Given the description of an element on the screen output the (x, y) to click on. 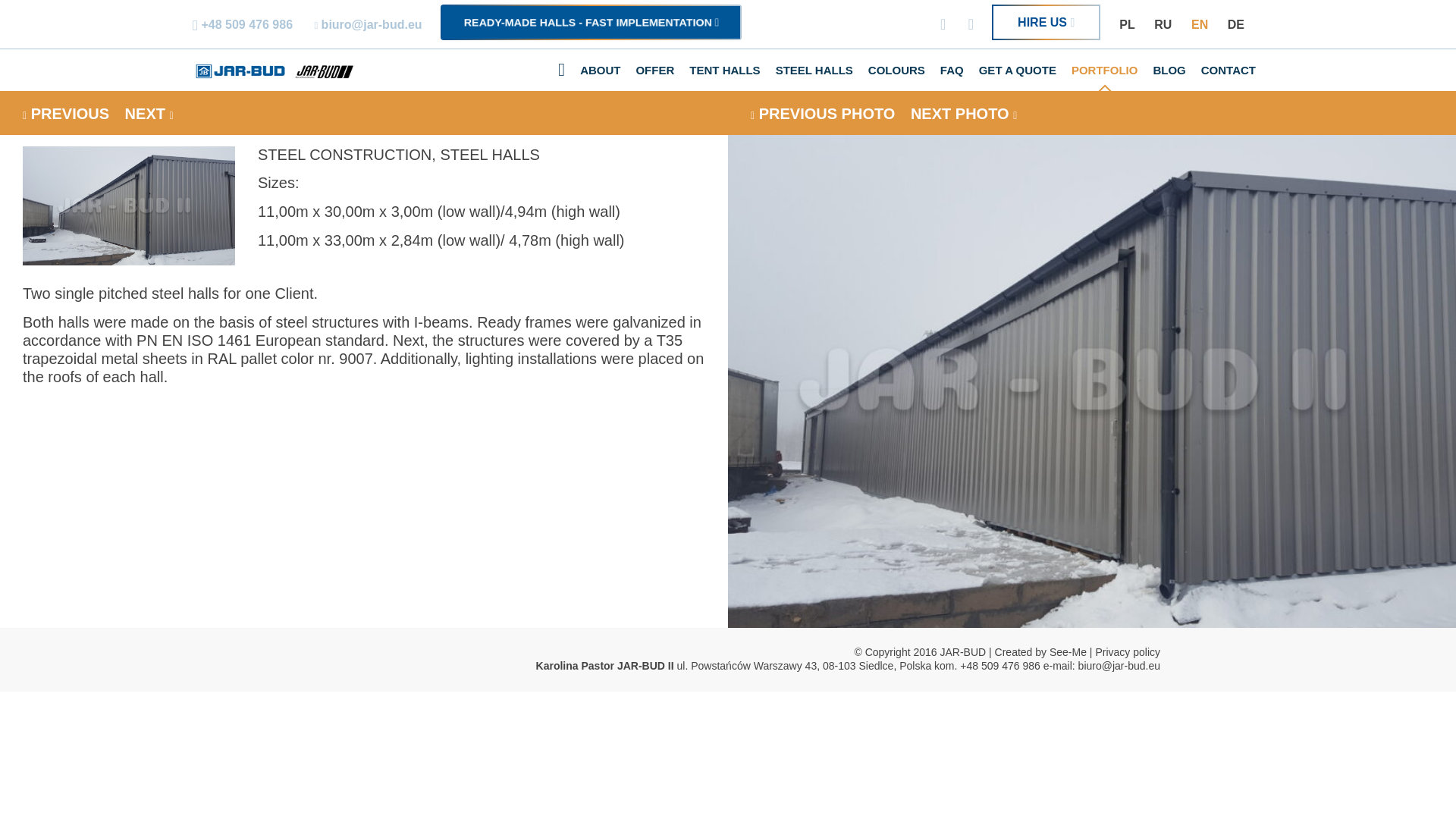
COLOURS (896, 69)
ABOUT (599, 69)
Ready-made halls - fast implementation (591, 22)
PORTFOLIO (1104, 69)
OFFER (654, 69)
TENT HALLS (724, 69)
CONTACT (1228, 69)
FAQ (952, 69)
logo (272, 71)
BLOG (1168, 69)
READY-MADE HALLS - FAST IMPLEMENTATION (591, 22)
GET A QUOTE (1017, 69)
STEEL HALLS (814, 69)
HIRE US (1045, 22)
Hire us (1045, 22)
